Given the description of an element on the screen output the (x, y) to click on. 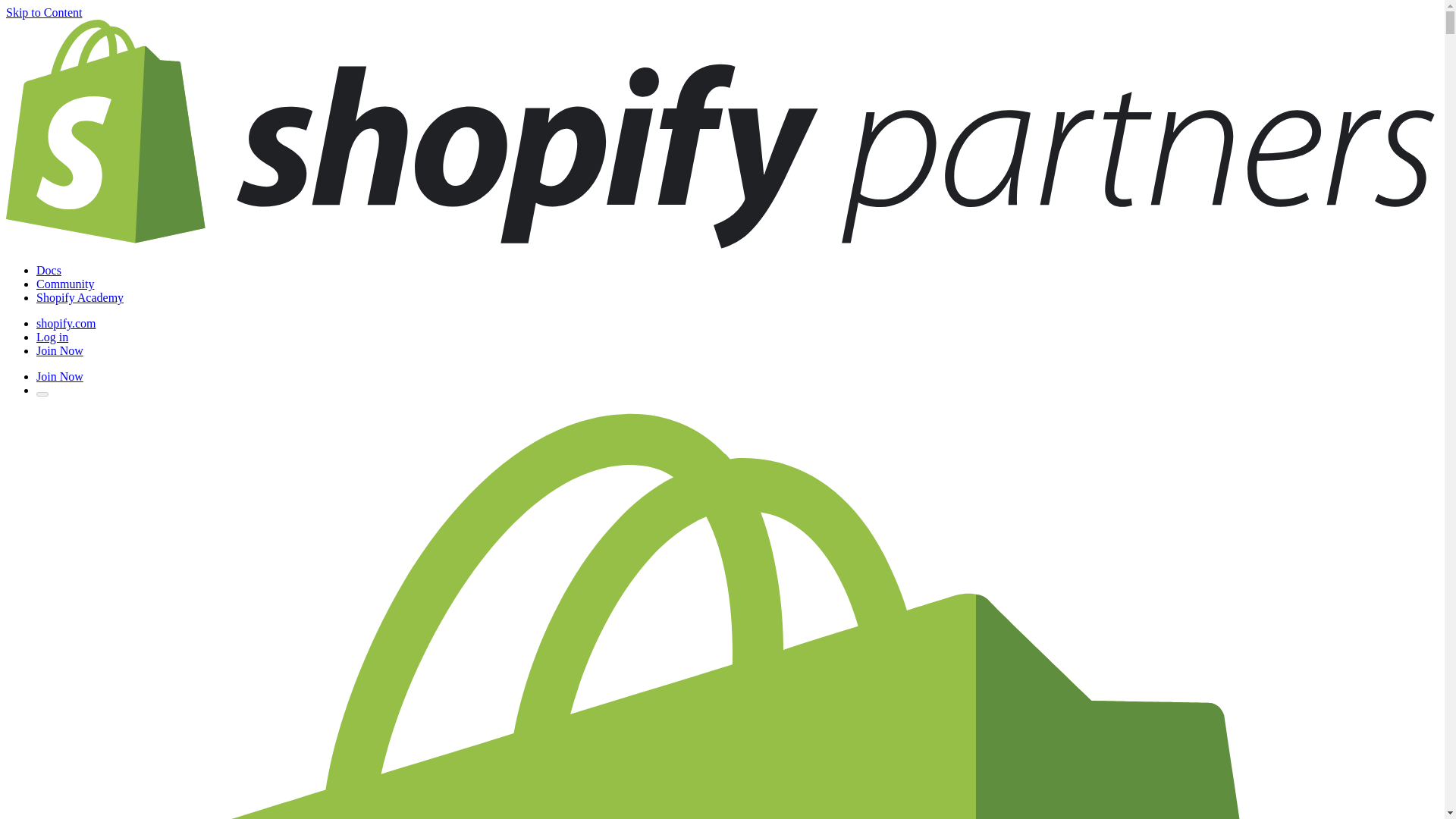
Join Now (59, 376)
Community (65, 283)
Docs (48, 269)
shopify.com (66, 323)
Shopify Academy (79, 297)
Join Now (59, 350)
Log in (52, 336)
Skip to Content (43, 11)
